Given the description of an element on the screen output the (x, y) to click on. 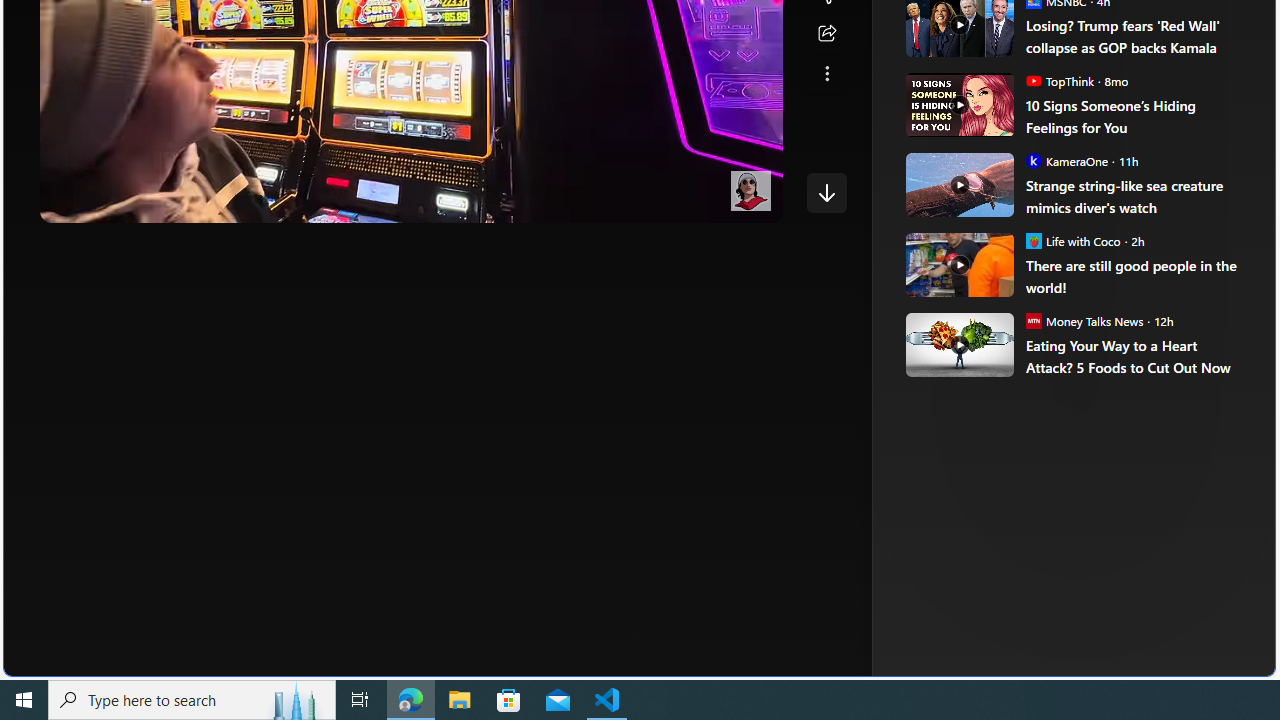
ABC News (974, 12)
Seek slider (411, 182)
Eating Your Way to a Heart Attack? 5 Foods to Cut Out Now (1136, 356)
Subtitles/closed captions unavailable (603, 202)
Channel watermark (750, 191)
Share this story (826, 33)
Pause (k) (75, 202)
TopThink TopThink (1059, 80)
KameraOne KameraOne (1066, 160)
